Given the description of an element on the screen output the (x, y) to click on. 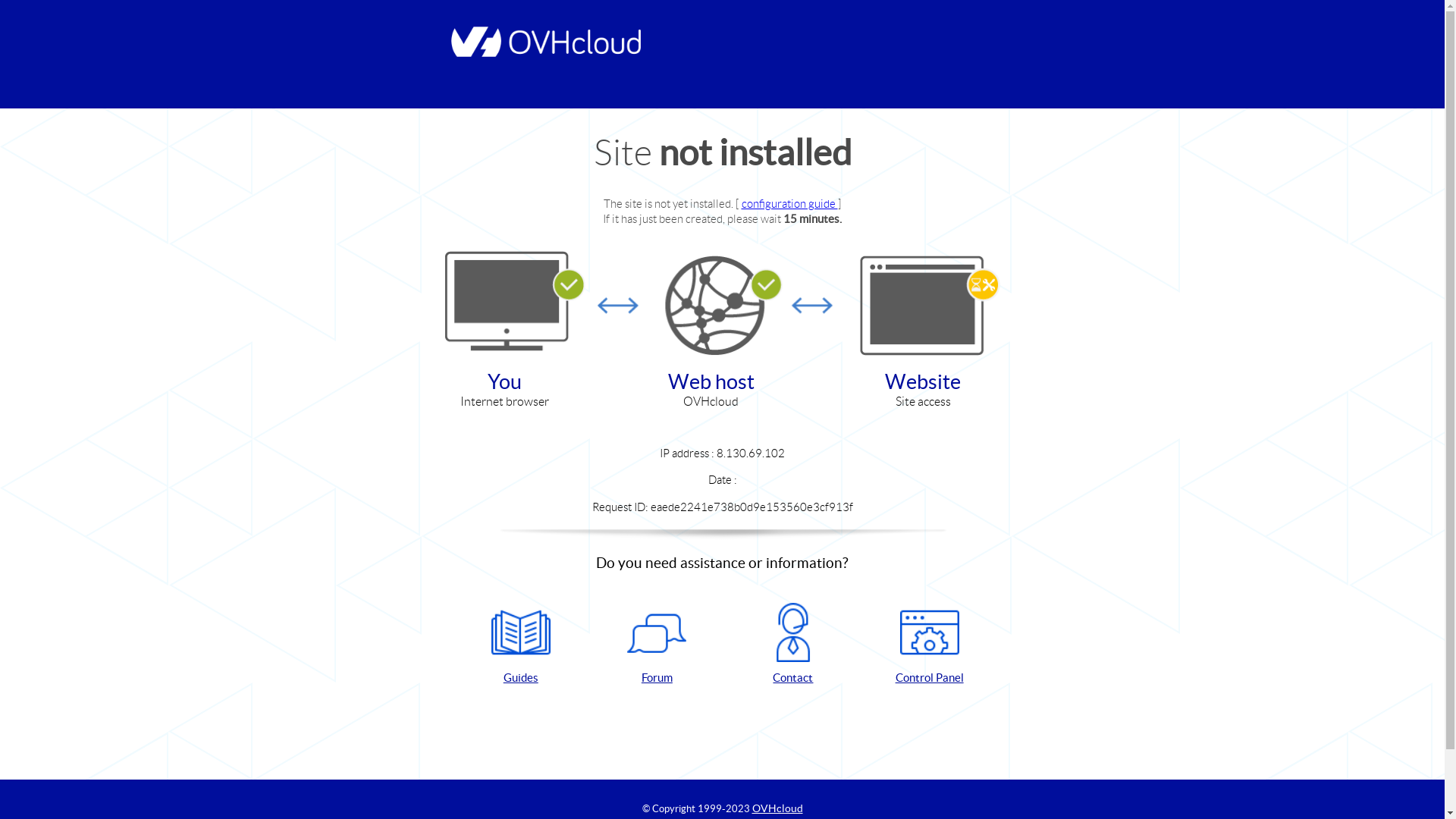
Control Panel Element type: text (929, 644)
Guides Element type: text (520, 644)
configuration guide Element type: text (789, 203)
Forum Element type: text (656, 644)
OVHcloud Element type: text (777, 808)
Contact Element type: text (792, 644)
